Given the description of an element on the screen output the (x, y) to click on. 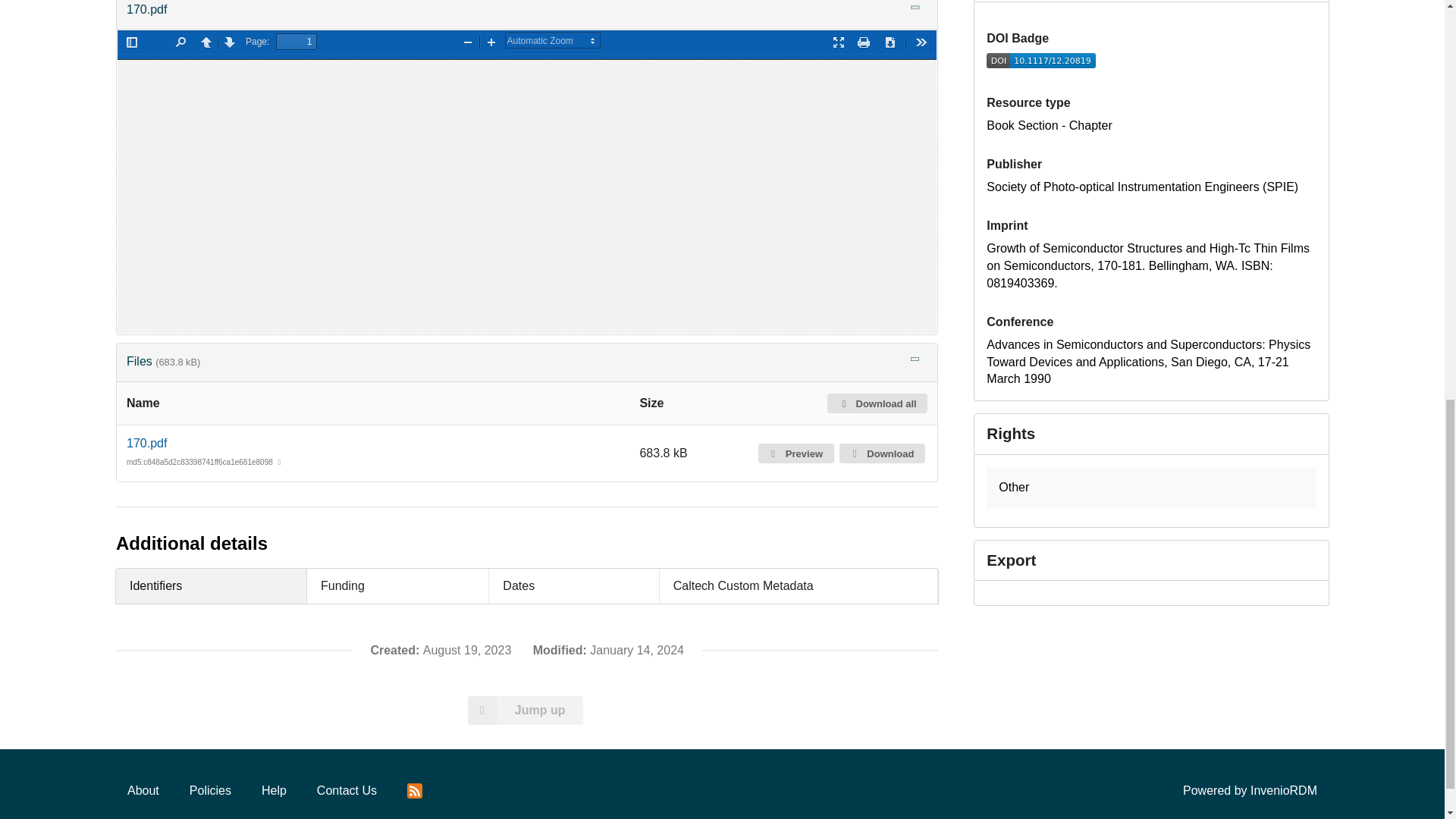
Get the DOI badge! (1041, 63)
Preview (796, 453)
About (143, 790)
Identifiers (211, 585)
Funding (398, 585)
Jump up (526, 710)
170.pdf (146, 442)
Dates (574, 585)
Contact Us (346, 790)
